Given the description of an element on the screen output the (x, y) to click on. 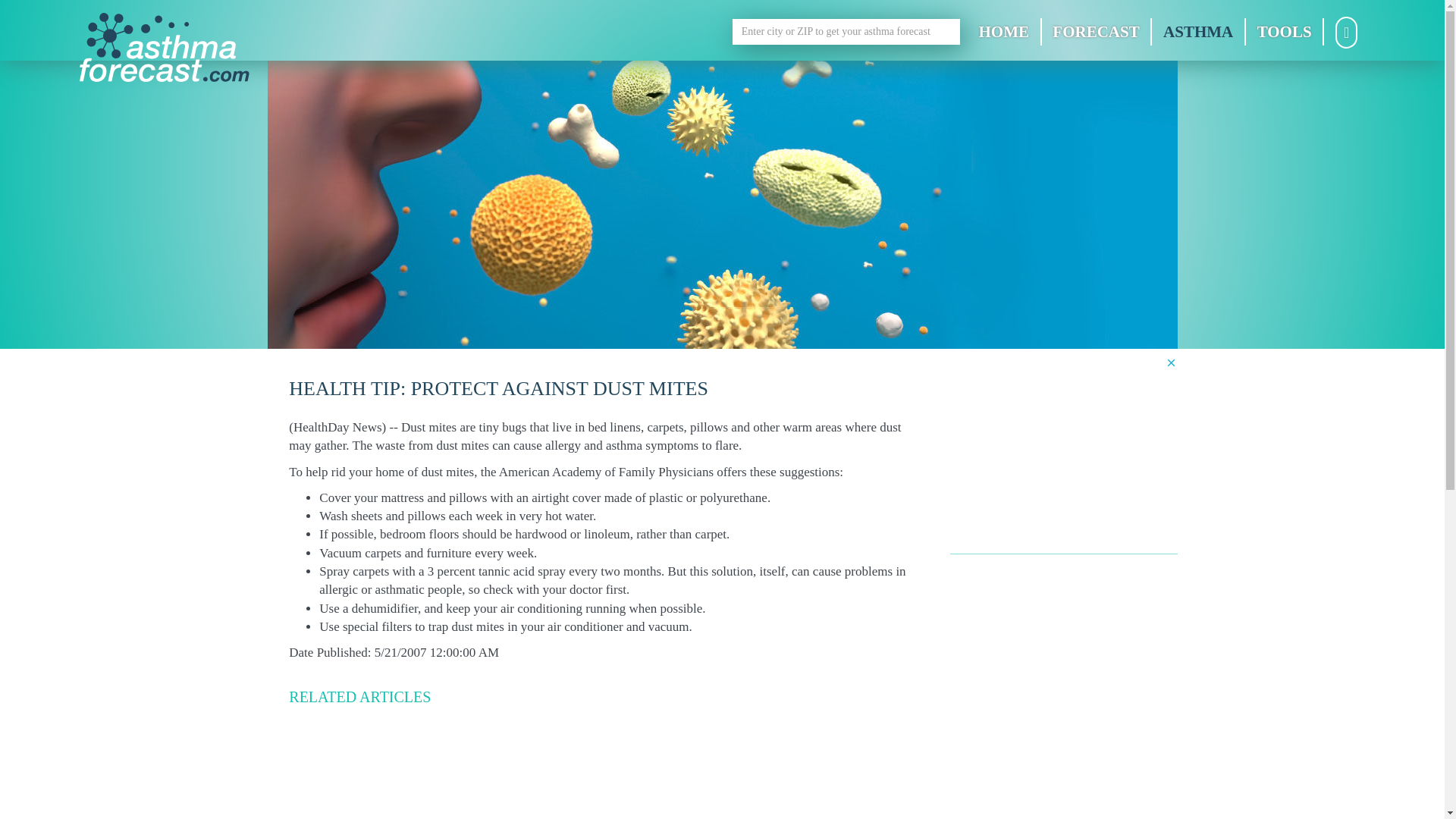
TOOLS (1284, 31)
ASTHMA (1198, 31)
3rd party ad content (1062, 451)
Login to My Azma.com (1345, 36)
HOME (1005, 31)
FORECAST (1097, 31)
